Given the description of an element on the screen output the (x, y) to click on. 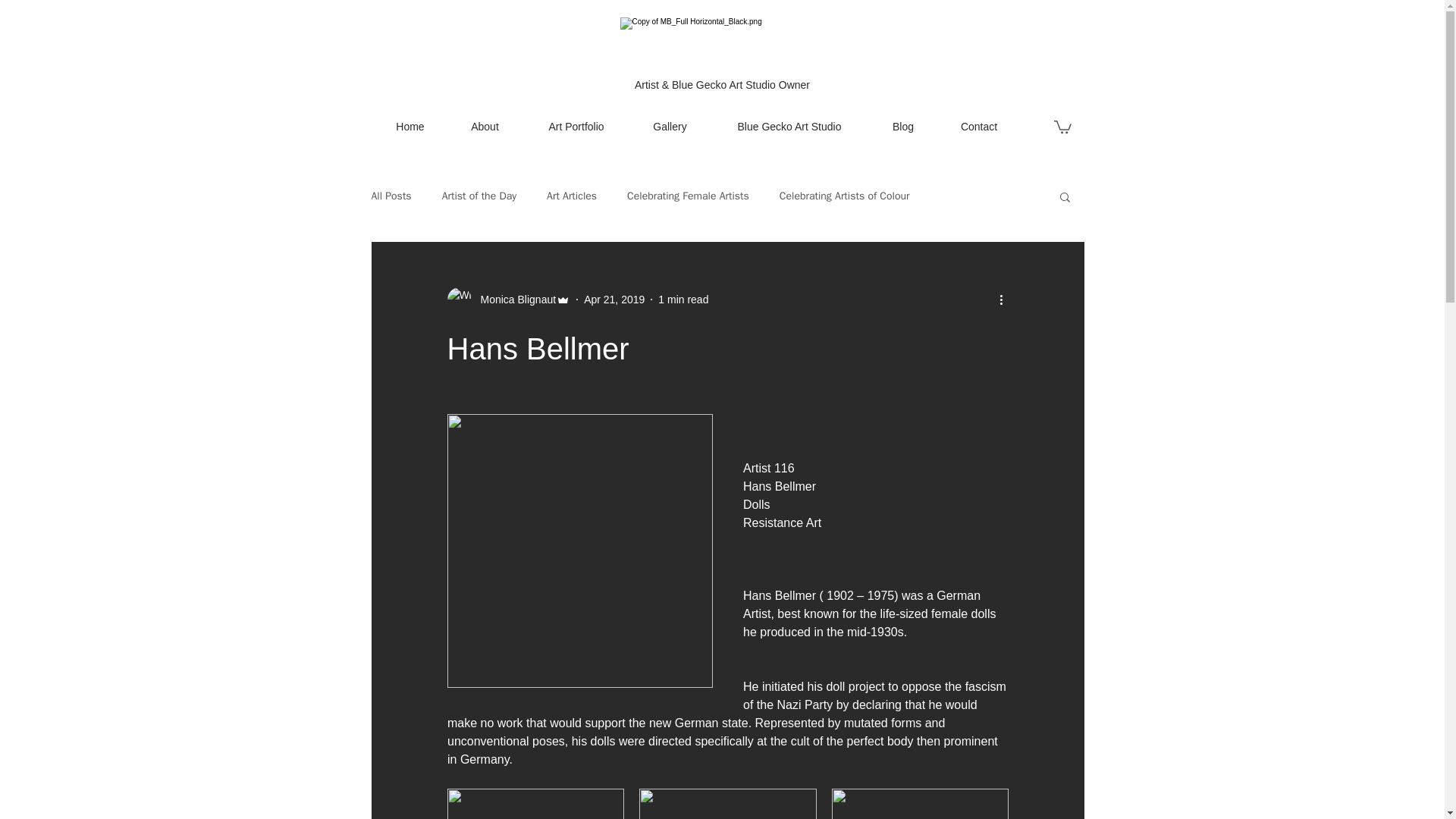
Monica Blignaut (513, 299)
Home (410, 126)
Apr 21, 2019 (614, 299)
Gallery (670, 126)
Art Articles (571, 196)
1 min read (682, 299)
Blue Gecko Art Studio (789, 126)
Monica Blignaut (508, 299)
Artist of the Day (479, 196)
All Posts (391, 196)
